Given the description of an element on the screen output the (x, y) to click on. 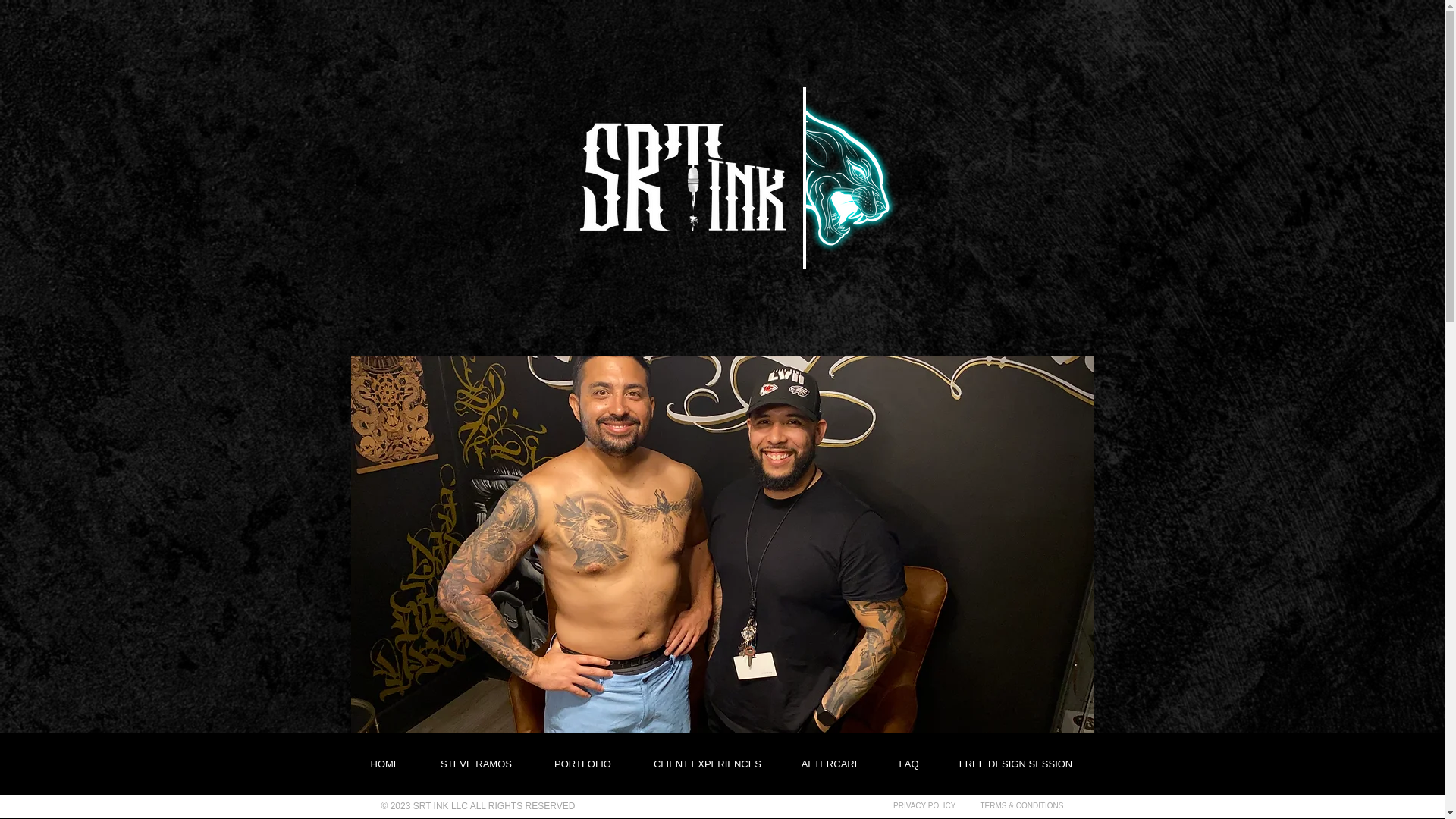
FREE DESIGN SESSION (1015, 764)
FAQ (908, 764)
STEVE RAMOS (476, 764)
CLIENT EXPERIENCES (706, 764)
AFTERCARE (831, 764)
PRIVACY POLICY (924, 805)
PORTFOLIO (581, 764)
HOME (384, 764)
